Given the description of an element on the screen output the (x, y) to click on. 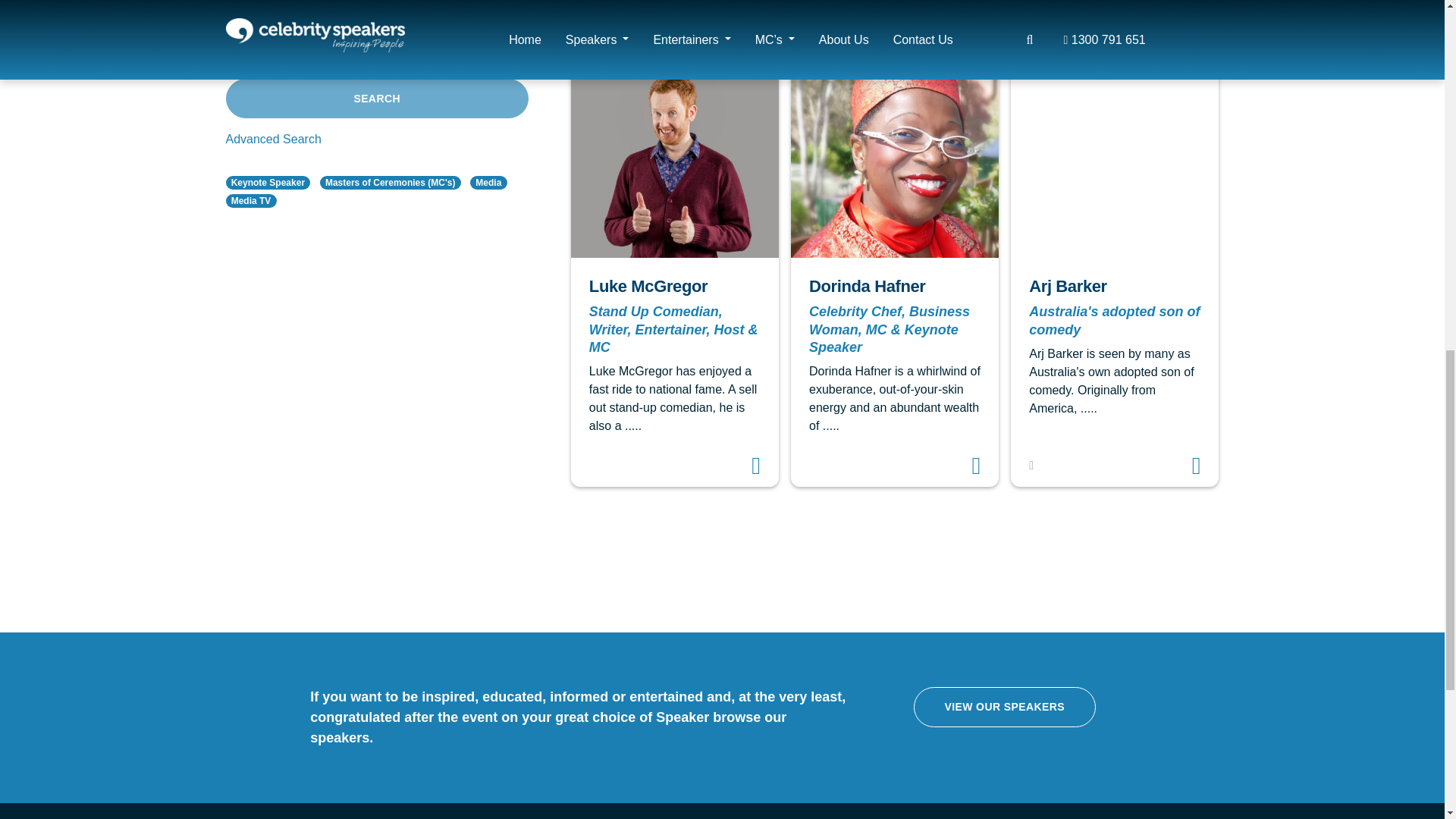
Search (376, 97)
